Given the description of an element on the screen output the (x, y) to click on. 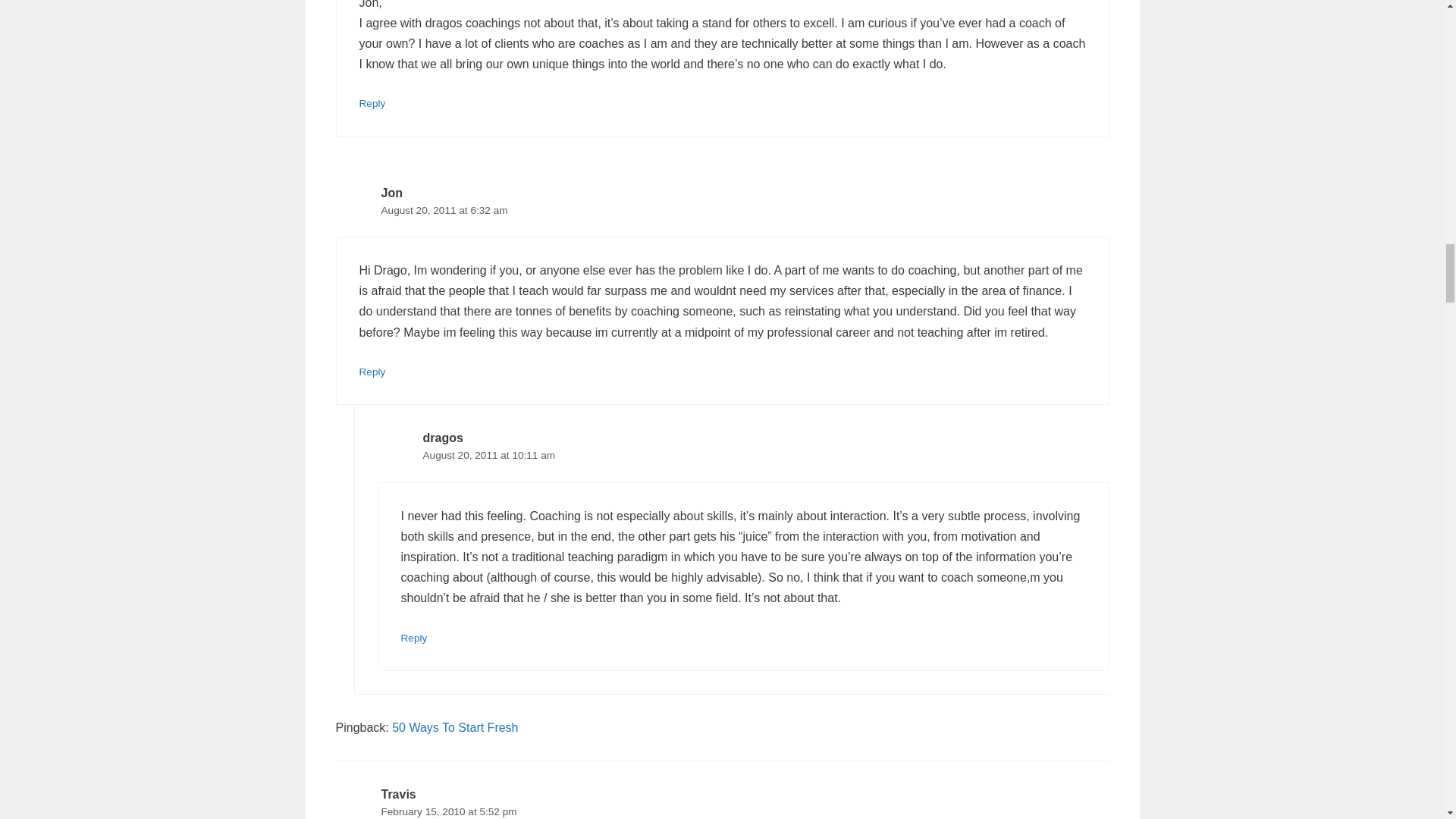
Reply (413, 637)
August 20, 2011 at 6:32 am (443, 210)
50 Ways To Start Fresh (454, 727)
Reply (372, 371)
February 15, 2010 at 5:52 pm (448, 811)
Reply (372, 102)
August 20, 2011 at 10:11 am (489, 455)
